Given the description of an element on the screen output the (x, y) to click on. 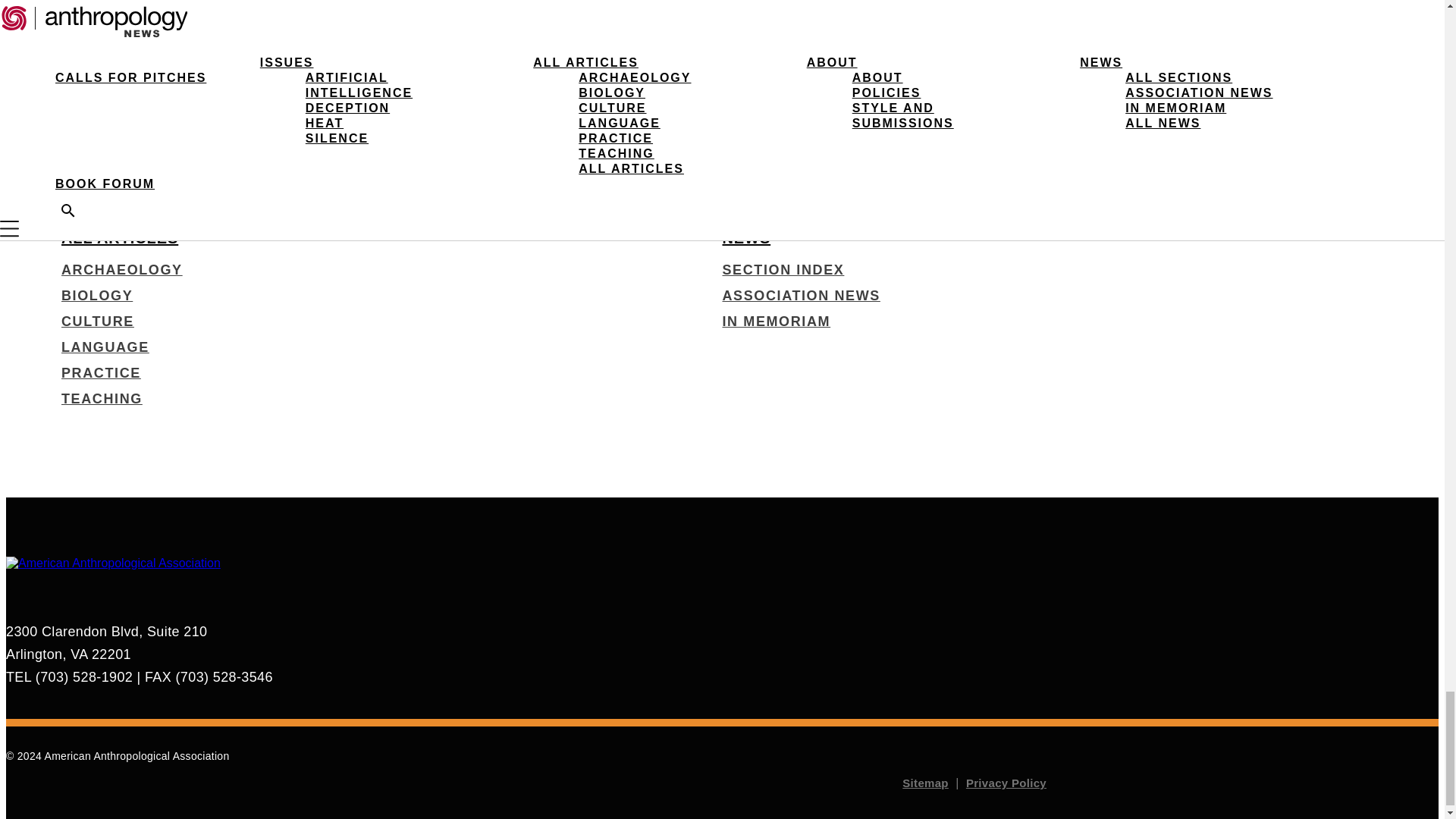
ARTIFICIAL INTELLIGENCE (165, 92)
ALL ISSUES (109, 61)
American Anthropological Association Logo (145, 563)
